Given the description of an element on the screen output the (x, y) to click on. 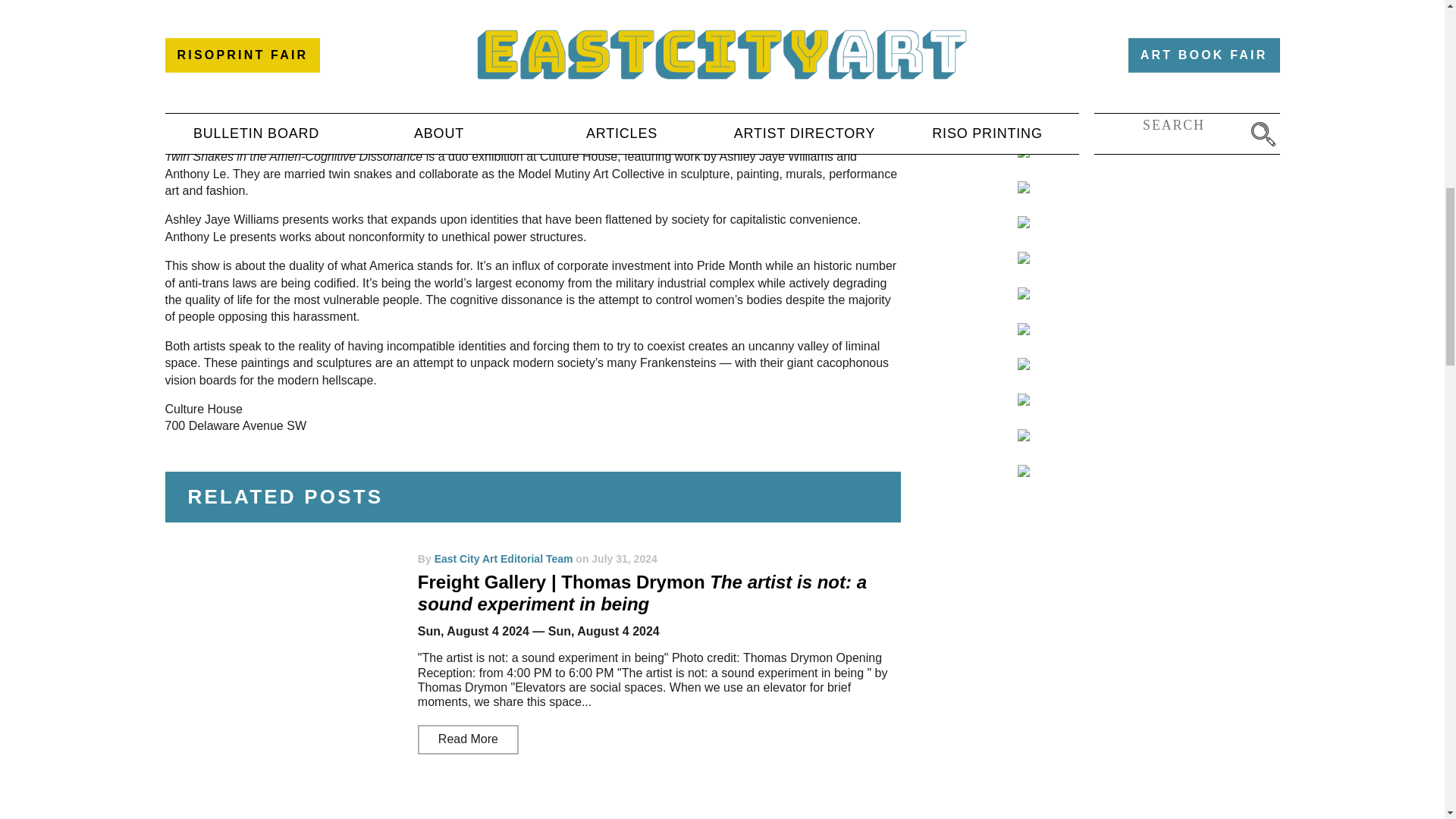
Read More (467, 739)
East City Art Editorial Team (503, 558)
